Given the description of an element on the screen output the (x, y) to click on. 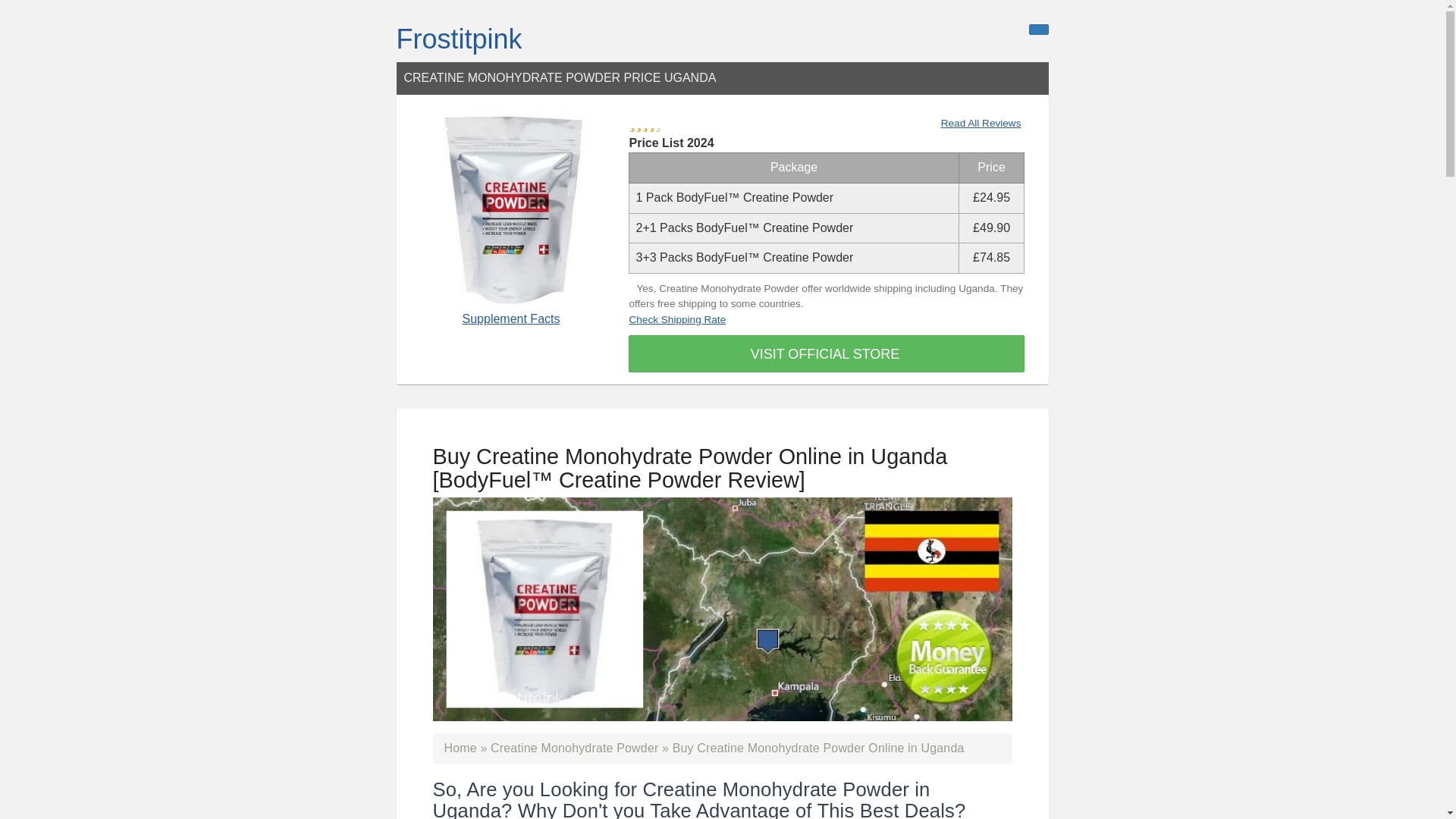
Creatine Monohydrate Powder (574, 748)
Frostitpink (458, 38)
Frostitpink (458, 38)
Home (460, 748)
Buy Creatine Monohydrate Powder Online  (574, 748)
